Given the description of an element on the screen output the (x, y) to click on. 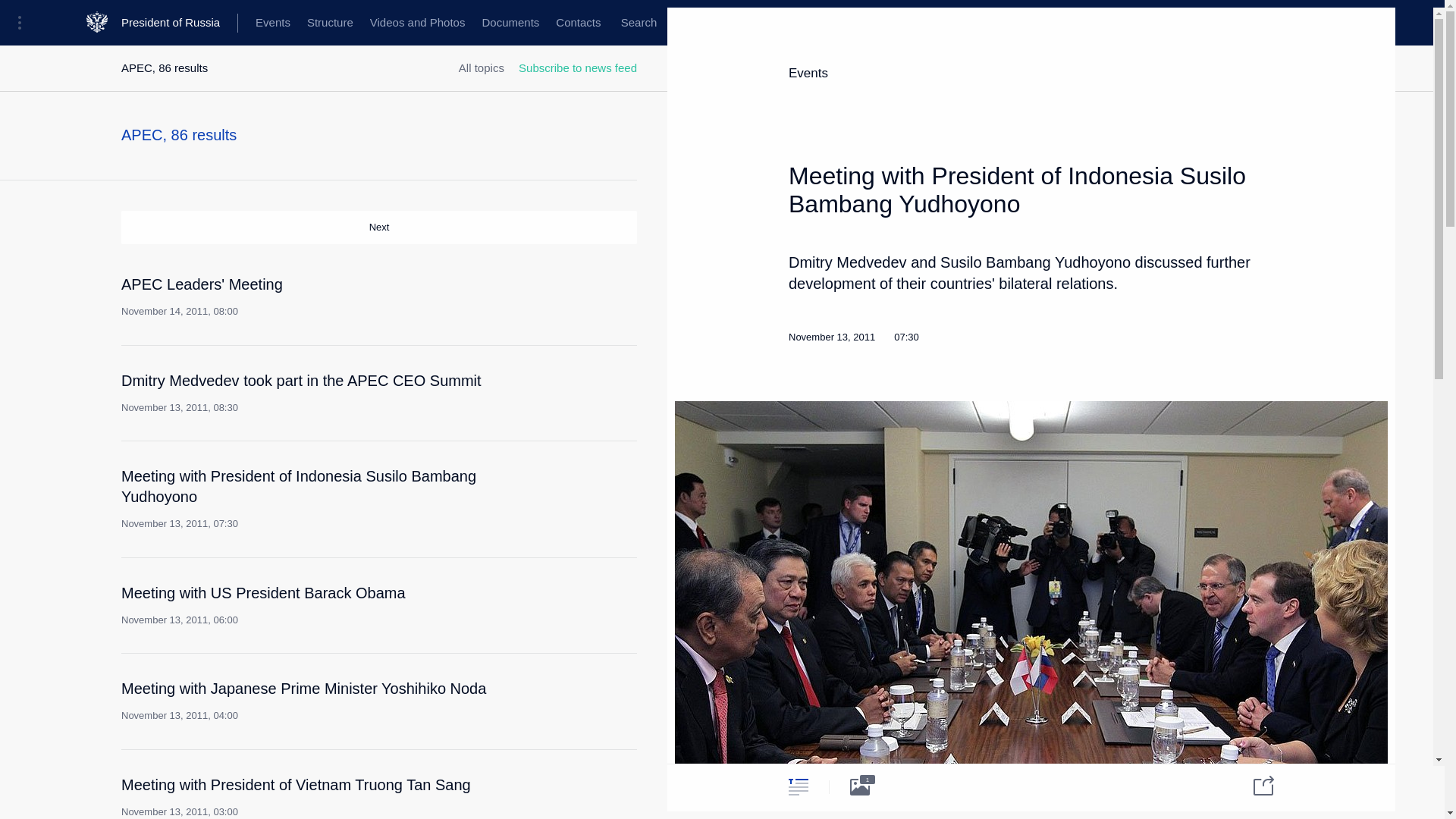
Share (1253, 784)
Documents (510, 22)
All topics (480, 67)
Text (798, 786)
Global website search (321, 296)
Structure (638, 22)
Videos and Photos (329, 22)
Contacts (417, 22)
Portal Menu (577, 22)
